Given the description of an element on the screen output the (x, y) to click on. 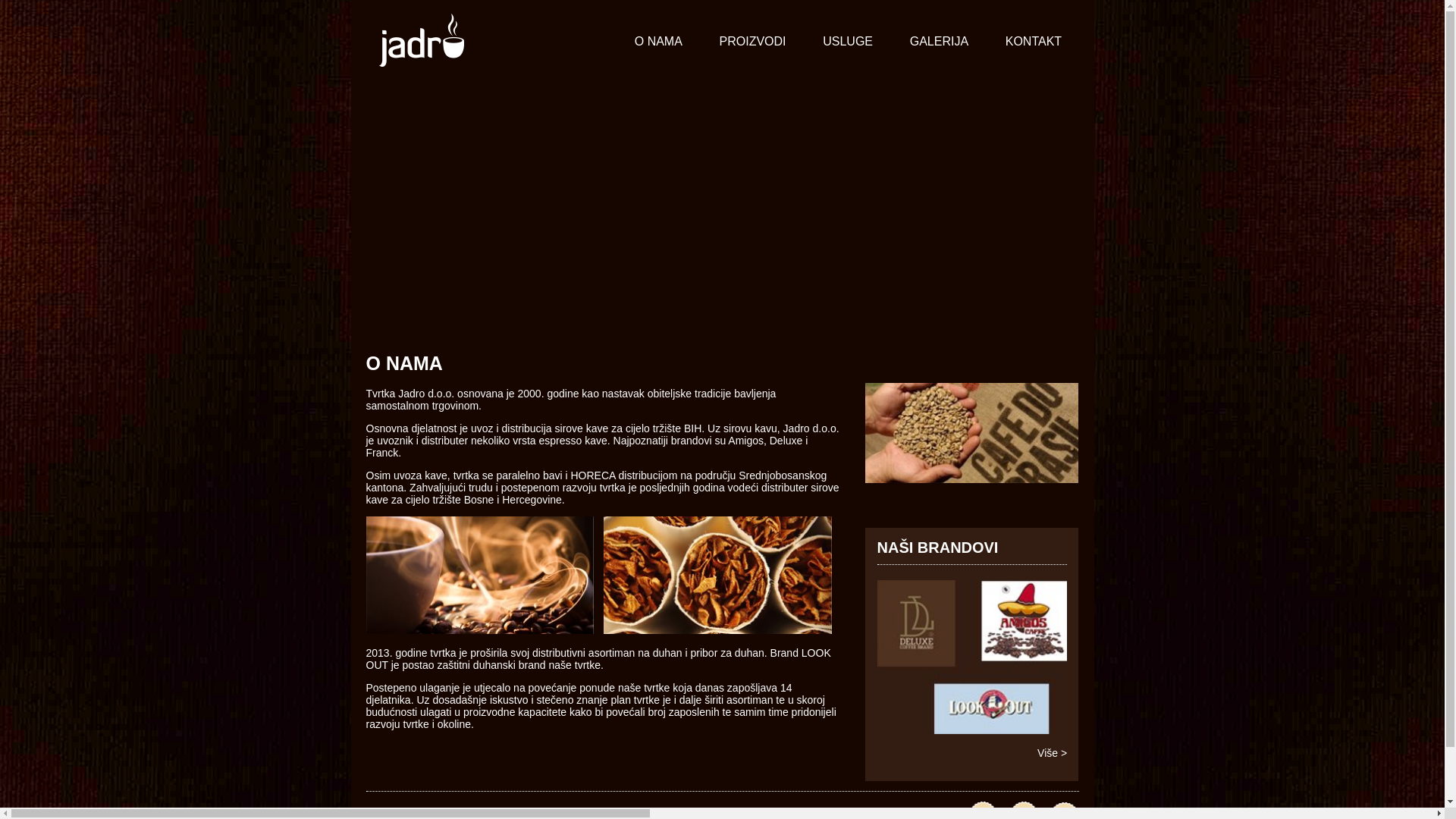
PROIZVODI Element type: text (752, 41)
USLUGE Element type: text (848, 41)
O NAMA Element type: text (658, 41)
KONTAKT Element type: text (1033, 41)
GALERIJA Element type: text (938, 41)
